Given the description of an element on the screen output the (x, y) to click on. 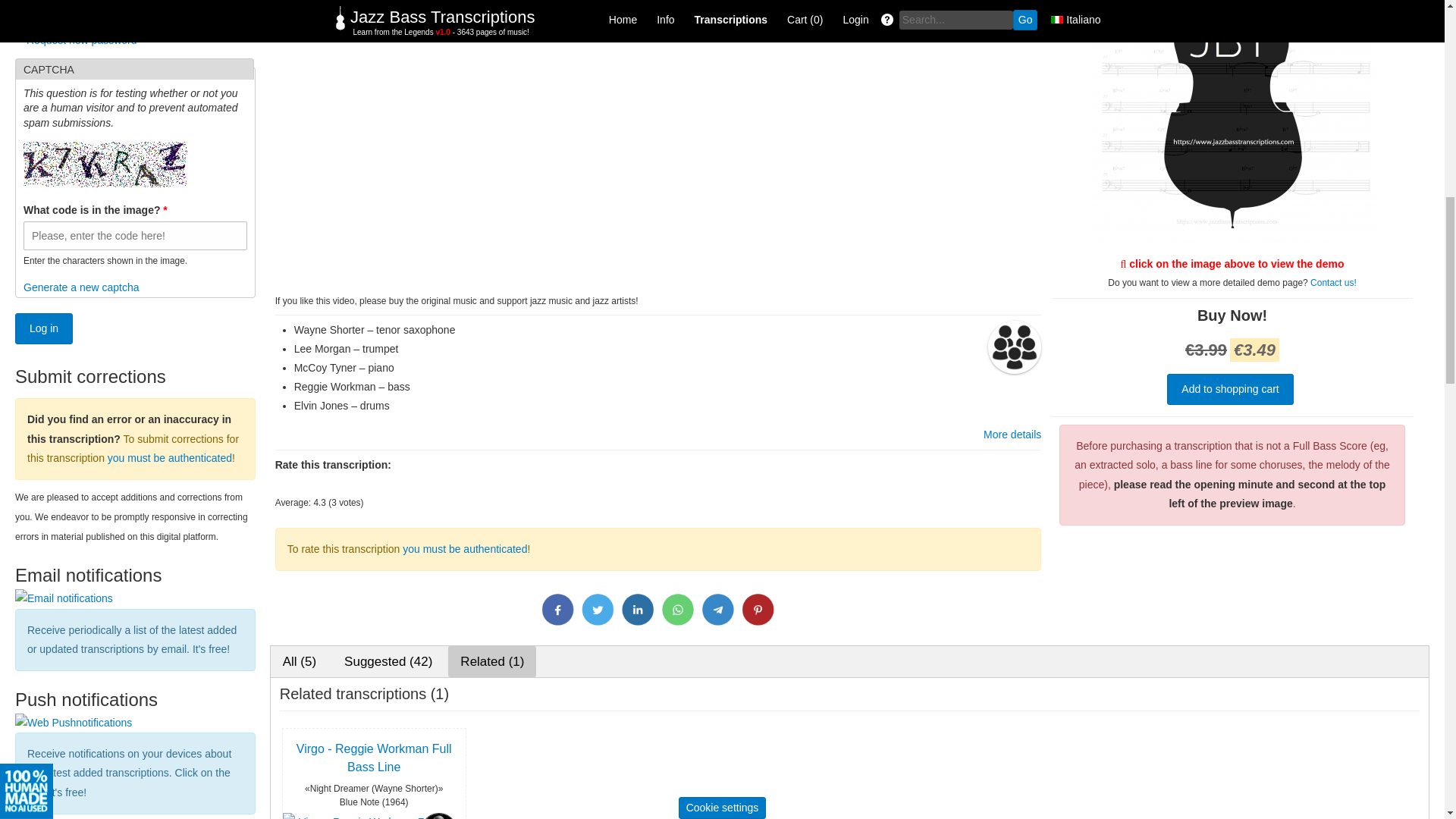
Log in (43, 327)
Add to shopping cart (1229, 388)
Armageddon - Reggie Workman Full Bass Line - DEMO (1232, 244)
Jazz Quintet (1014, 347)
